Given the description of an element on the screen output the (x, y) to click on. 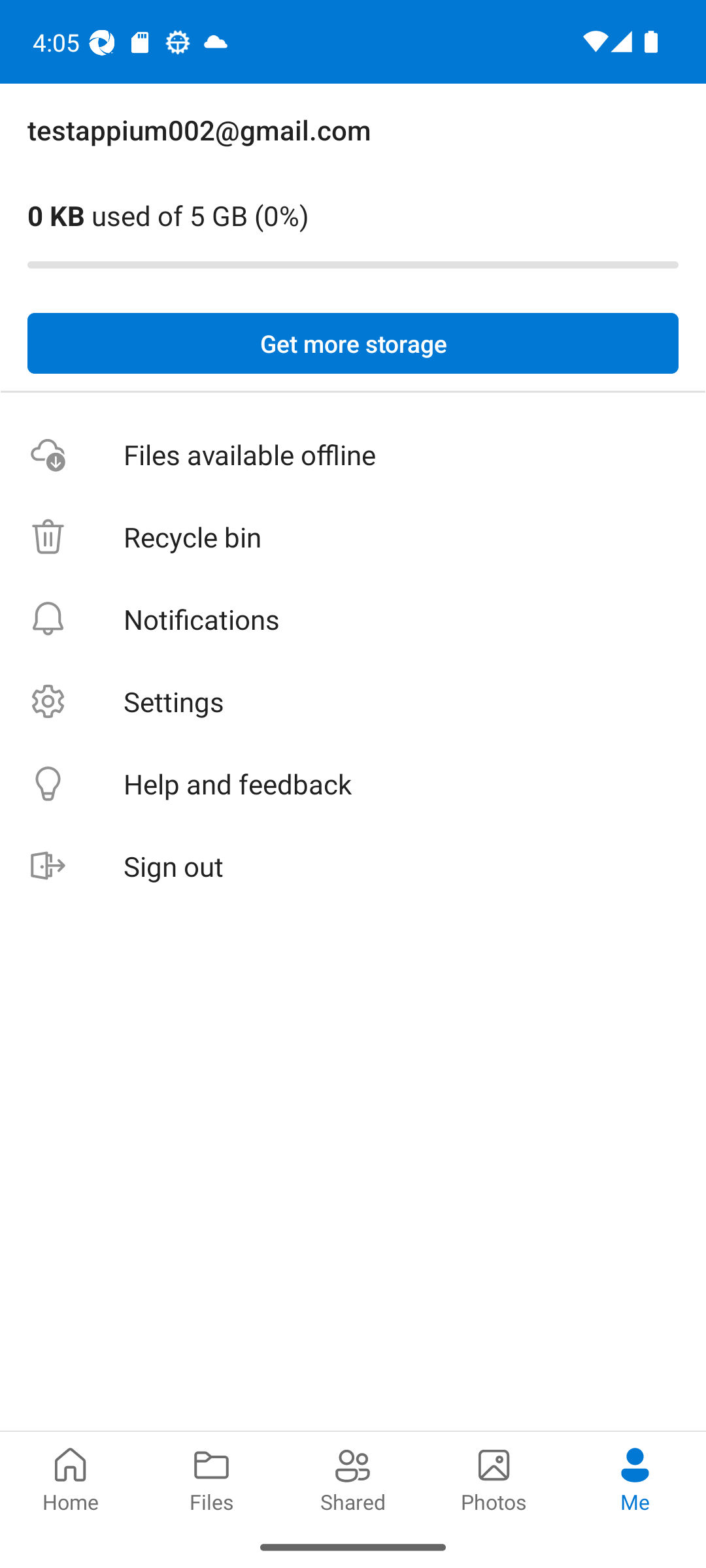
Get more storage (352, 343)
Files available offline (353, 454)
Recycle bin (353, 536)
Notifications (353, 619)
Settings (353, 701)
Help and feedback (353, 783)
Sign out (353, 865)
Home pivot Home (70, 1478)
Files pivot Files (211, 1478)
Shared pivot Shared (352, 1478)
Photos pivot Photos (493, 1478)
